Given the description of an element on the screen output the (x, y) to click on. 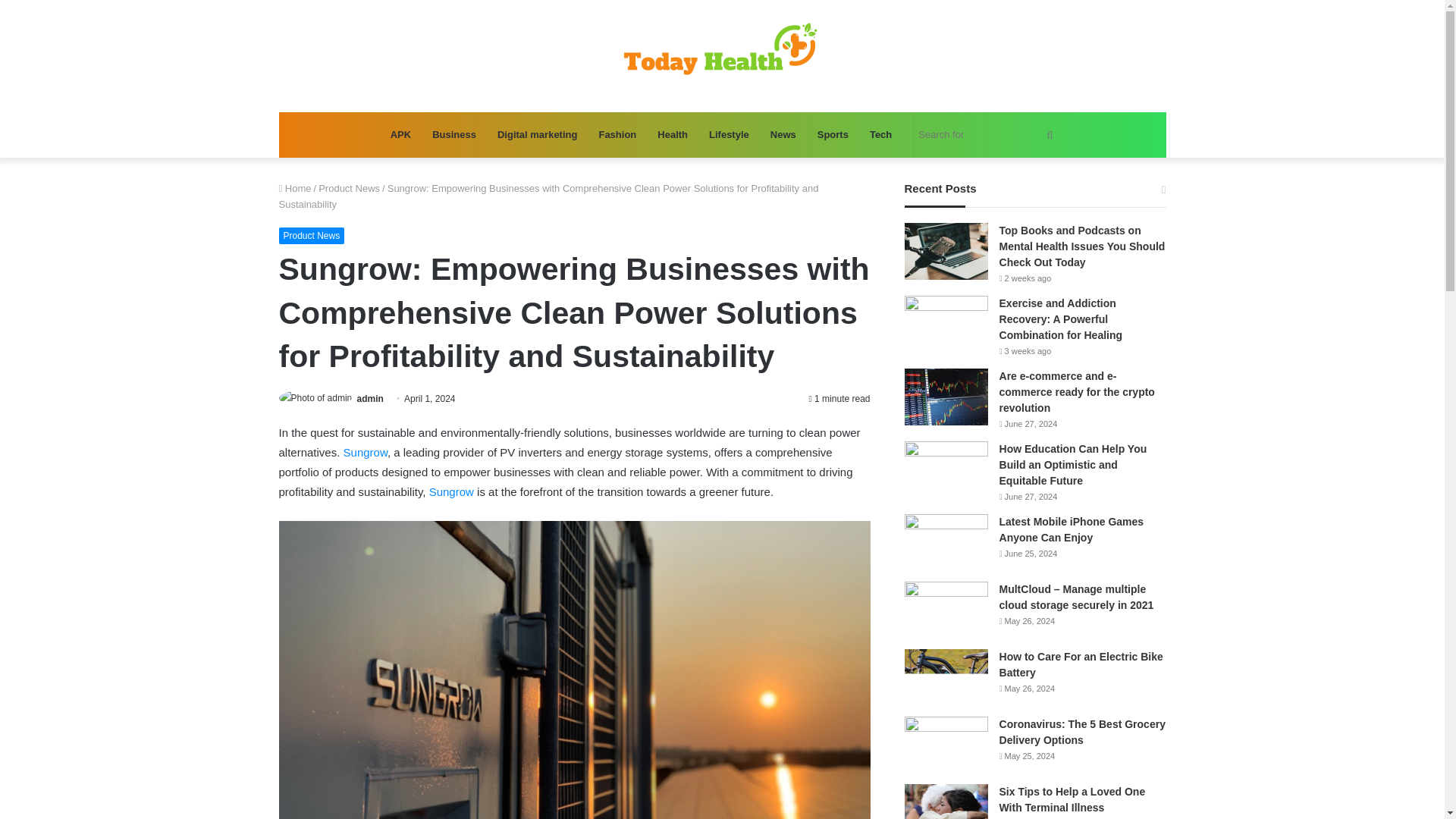
Lifestyle (729, 135)
admin (370, 398)
Home (295, 188)
Tech (880, 135)
Todayhealth.co (721, 56)
Sungrow (365, 451)
Sports (832, 135)
News (783, 135)
Digital marketing (537, 135)
Fashion (617, 135)
